Given the description of an element on the screen output the (x, y) to click on. 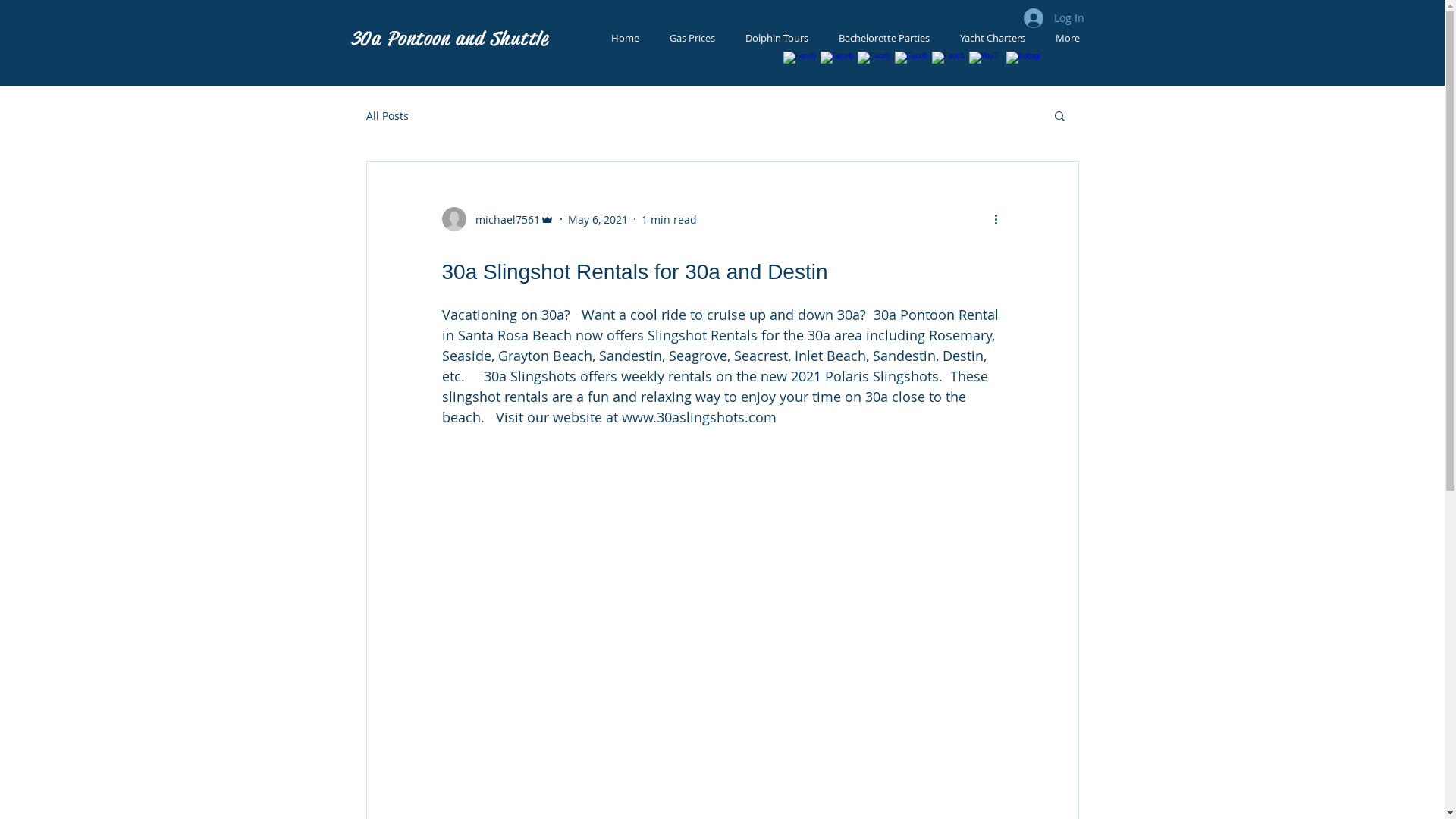
Home Element type: text (625, 38)
Bachelorette Parties Element type: text (883, 38)
Yacht Charters Element type: text (992, 38)
30a Pontoon and Shuttle Element type: text (448, 38)
Gas Prices Element type: text (691, 38)
All Posts Element type: text (386, 114)
Dolphin Tours Element type: text (775, 38)
Log In Element type: text (1054, 17)
michael7561 Element type: text (497, 219)
